Given the description of an element on the screen output the (x, y) to click on. 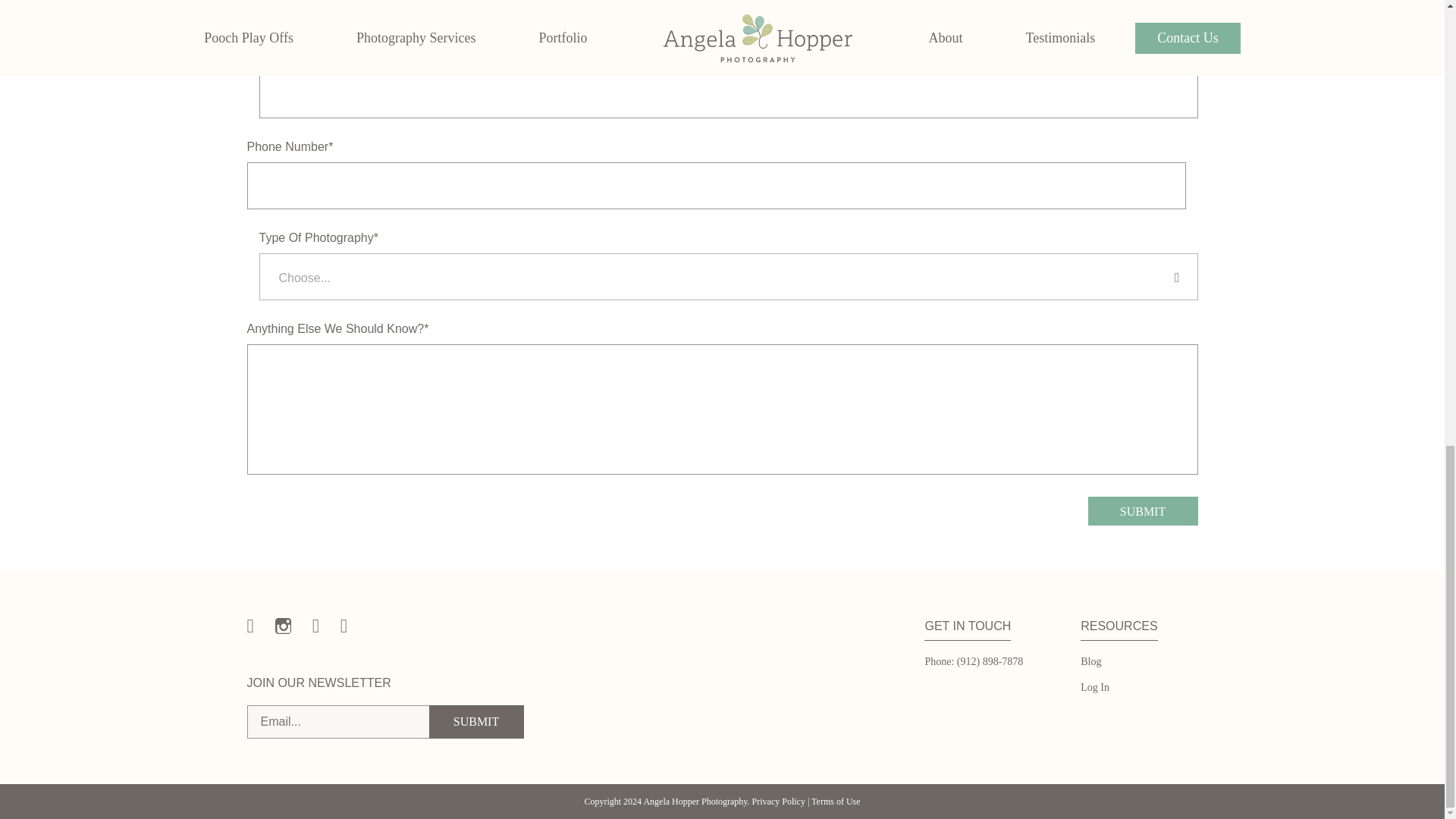
Submit (1141, 510)
Submit (476, 721)
